Given the description of an element on the screen output the (x, y) to click on. 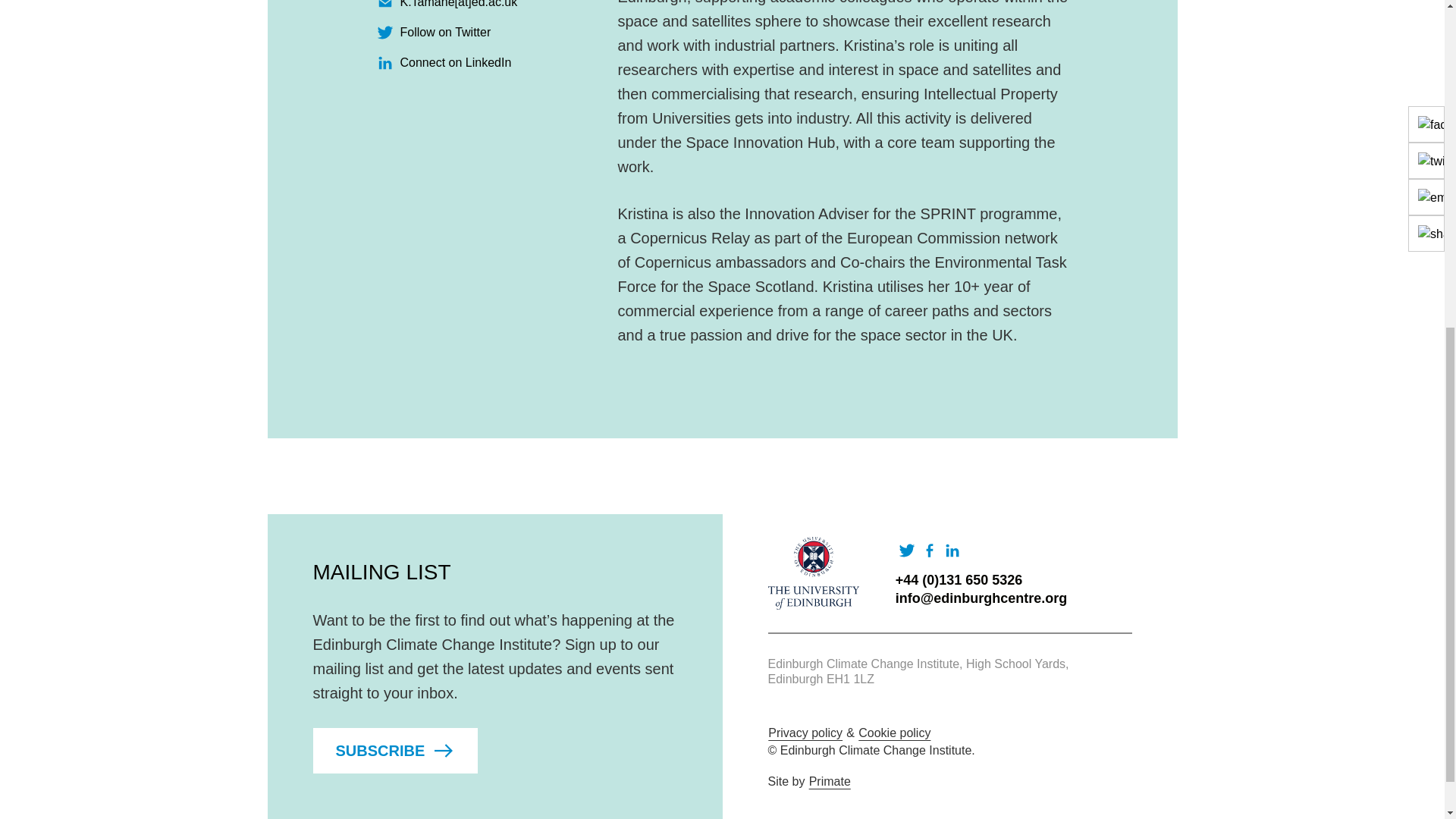
Connect on LinkedIn (456, 62)
Primate (829, 780)
Privacy policy (805, 732)
SUBSCRIBE (395, 750)
Cookie policy (894, 732)
Follow on Twitter (446, 31)
